Given the description of an element on the screen output the (x, y) to click on. 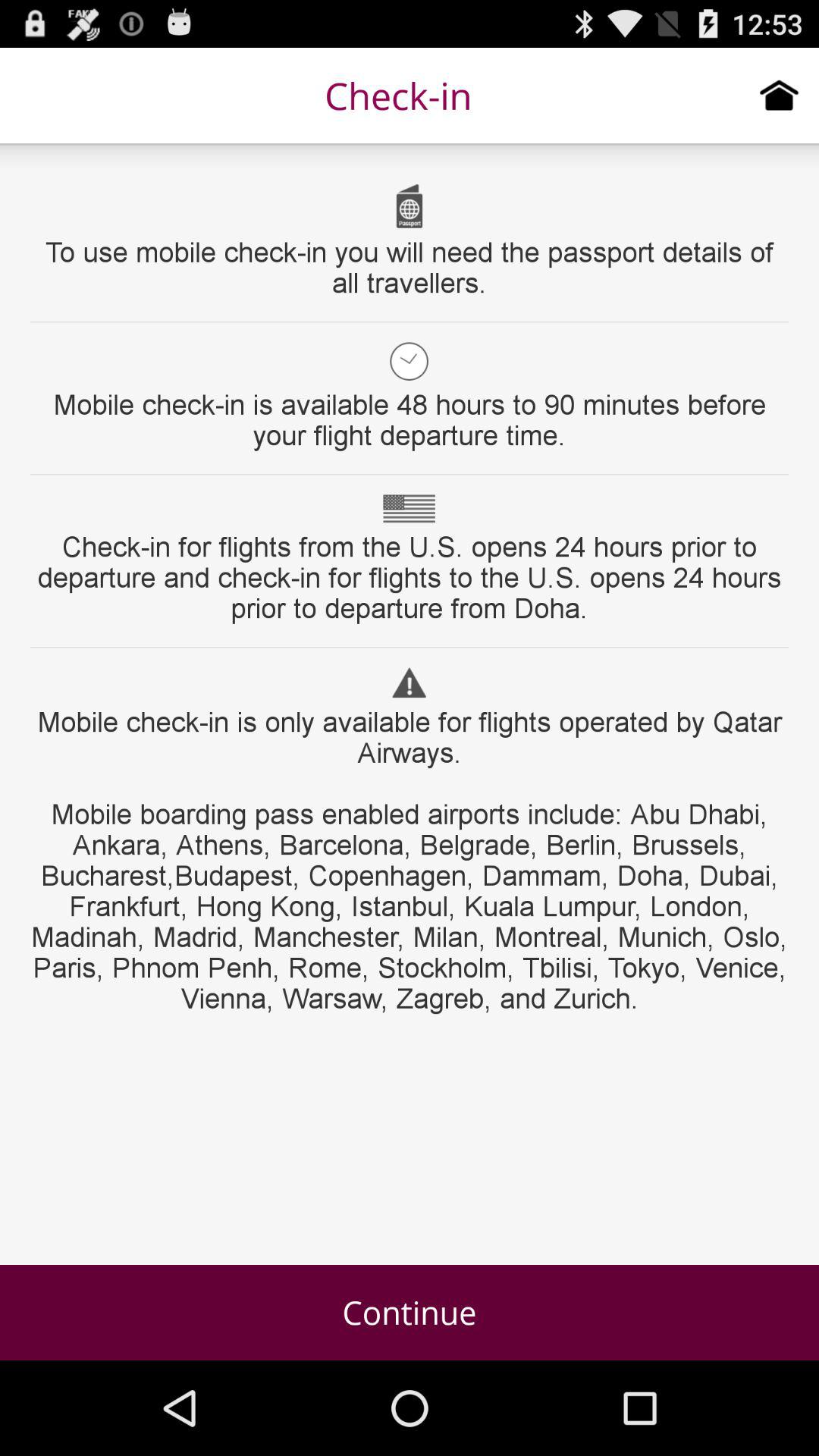
click item at the bottom (409, 1312)
